Given the description of an element on the screen output the (x, y) to click on. 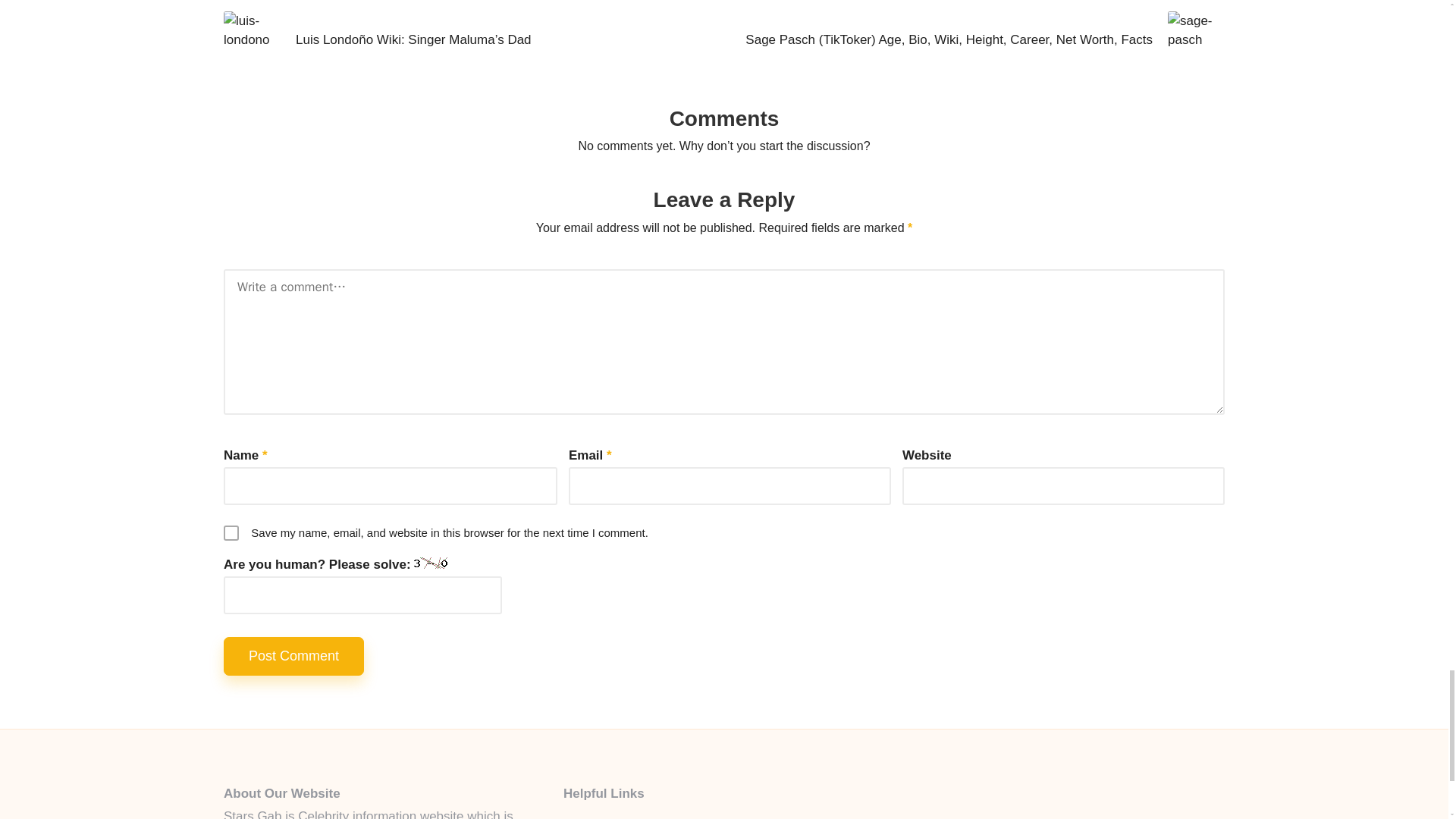
Post Comment (294, 656)
yes (231, 532)
